Given the description of an element on the screen output the (x, y) to click on. 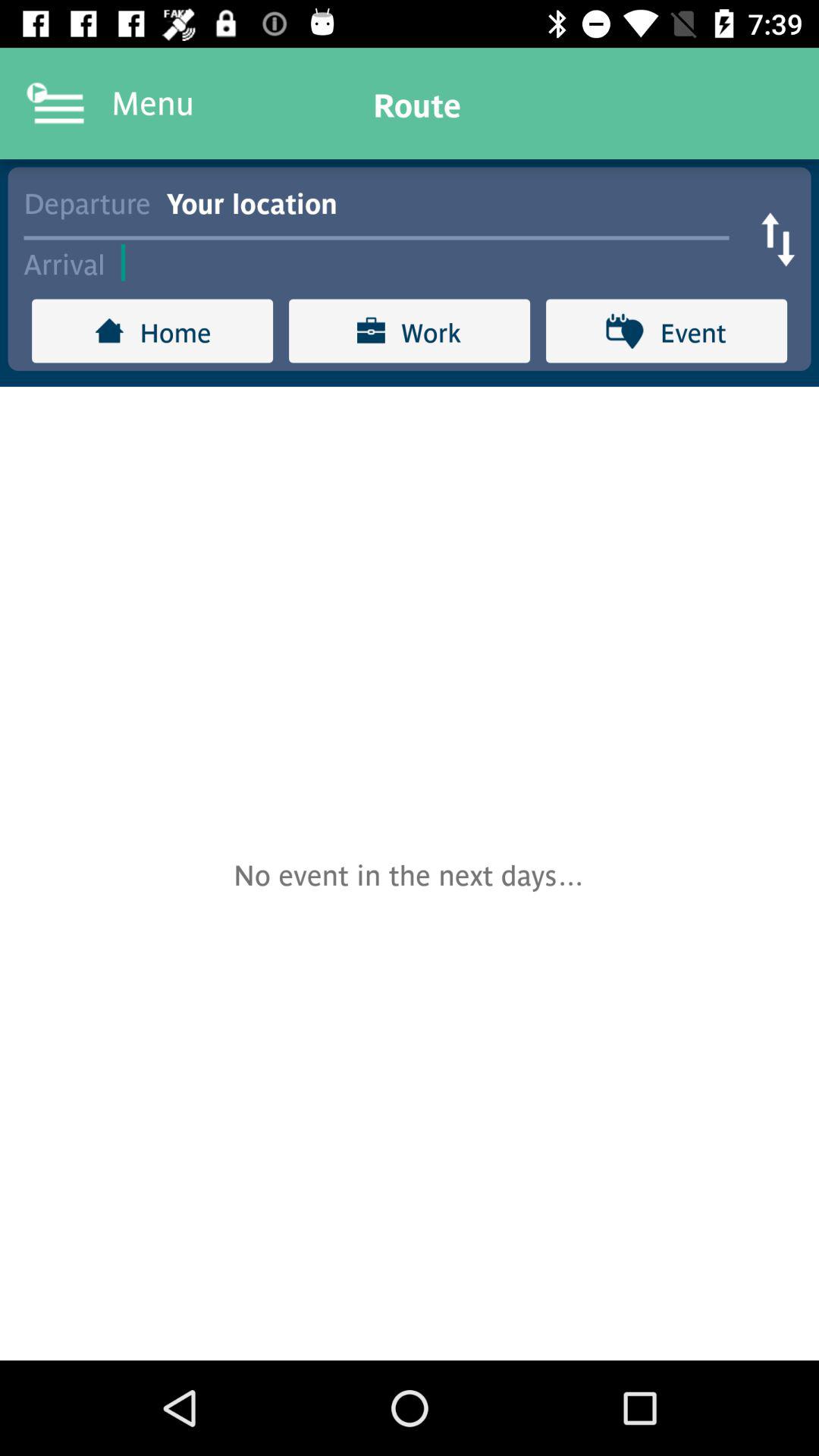
arrival field (433, 261)
